Given the description of an element on the screen output the (x, y) to click on. 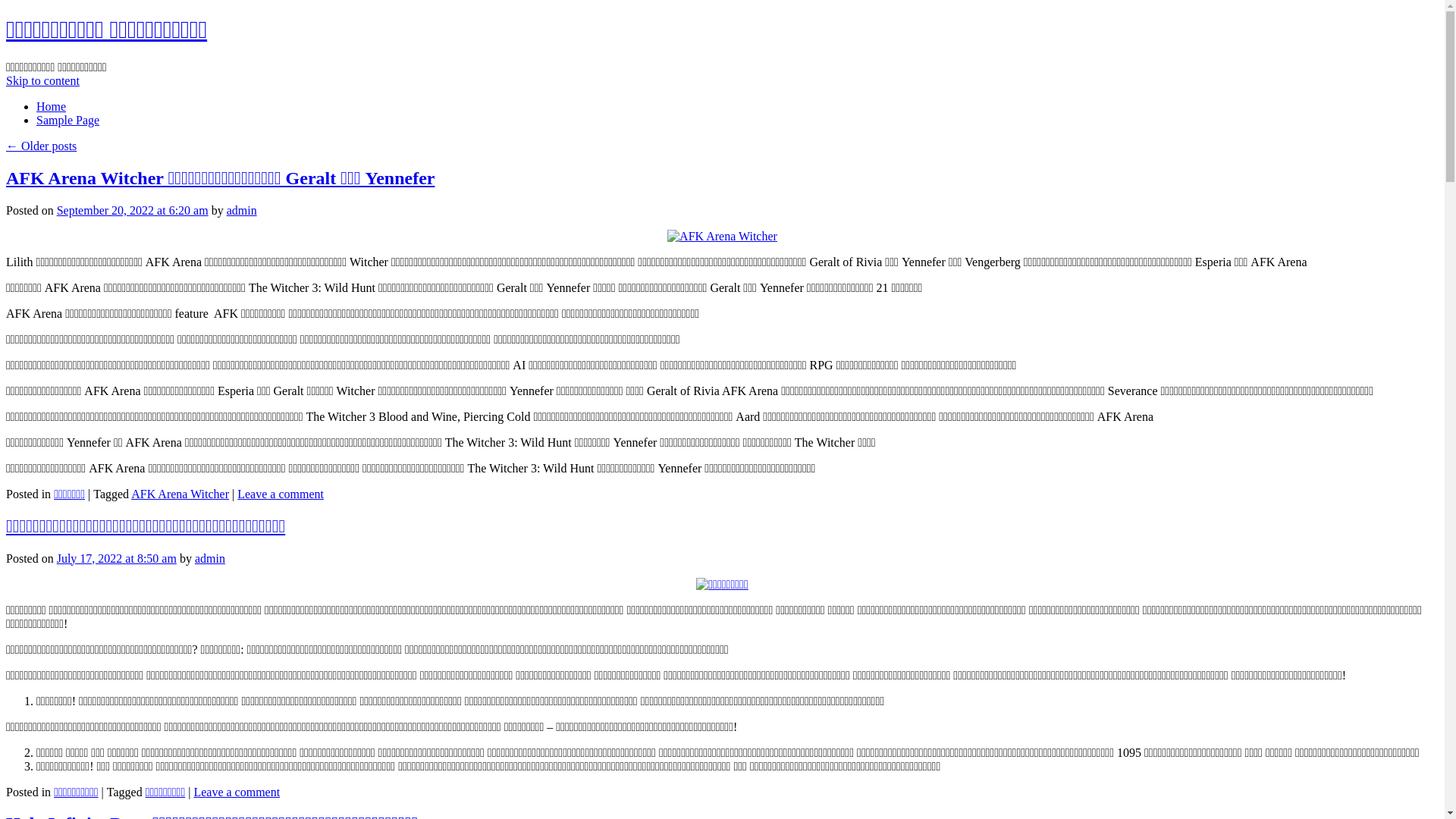
Home Element type: text (50, 106)
admin Element type: text (241, 209)
Sample Page Element type: text (67, 119)
Leave a comment Element type: text (236, 791)
September 20, 2022 at 6:20 am Element type: text (132, 209)
July 17, 2022 at 8:50 am Element type: text (116, 558)
Leave a comment Element type: text (280, 493)
AFK Arena Witcher Element type: text (180, 493)
admin Element type: text (209, 558)
Skip to content Element type: text (42, 80)
